Given the description of an element on the screen output the (x, y) to click on. 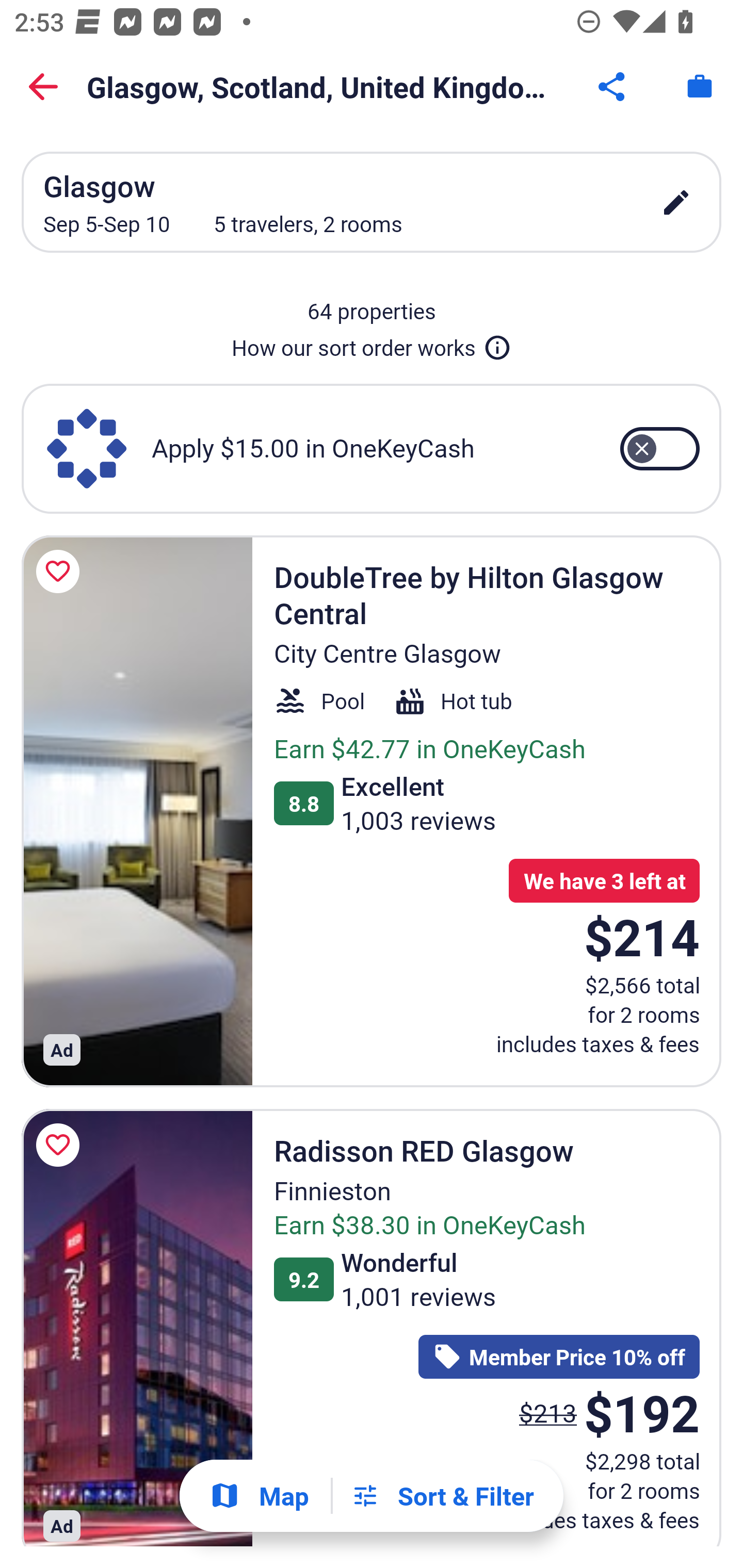
Back (43, 86)
Share Button (612, 86)
Trips. Button (699, 86)
Glasgow Sep 5-Sep 10 5 travelers, 2 rooms edit (371, 202)
How our sort order works (371, 344)
DoubleTree by Hilton Glasgow Central (136, 810)
Save Radisson RED Glasgow to a trip (61, 1145)
Radisson RED Glasgow (136, 1327)
$213 The price was $213 (547, 1412)
Filters Sort & Filter Filters Button (442, 1495)
Show map Map Show map Button (258, 1495)
